Given the description of an element on the screen output the (x, y) to click on. 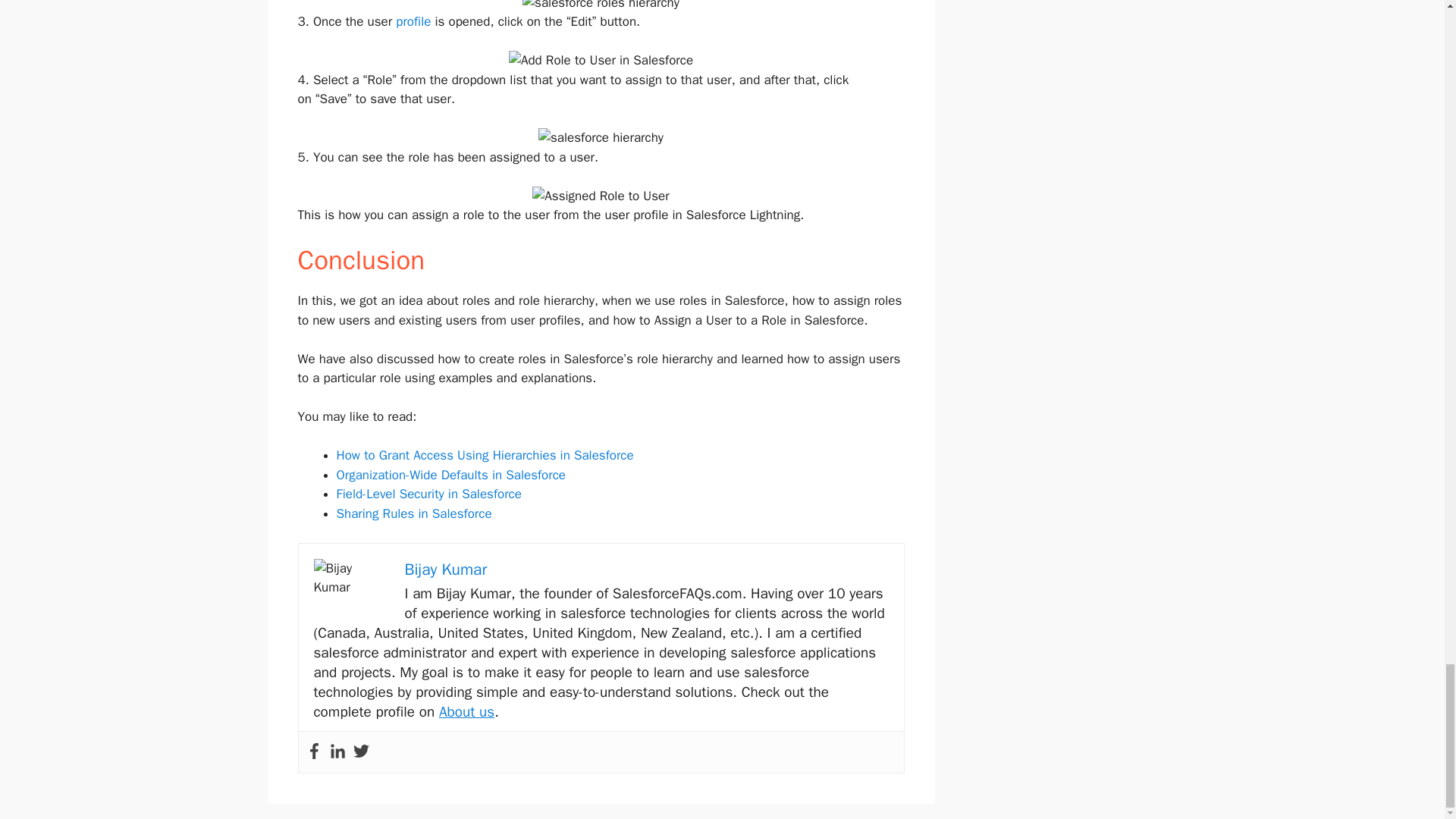
Organization-Wide Defaults in Salesforce (451, 474)
profile (413, 21)
Field-Level Security in Salesforce (428, 494)
Sharing Rules in Salesforce (414, 513)
How to Grant Access Using Hierarchies in Salesforce (484, 455)
